Given the description of an element on the screen output the (x, y) to click on. 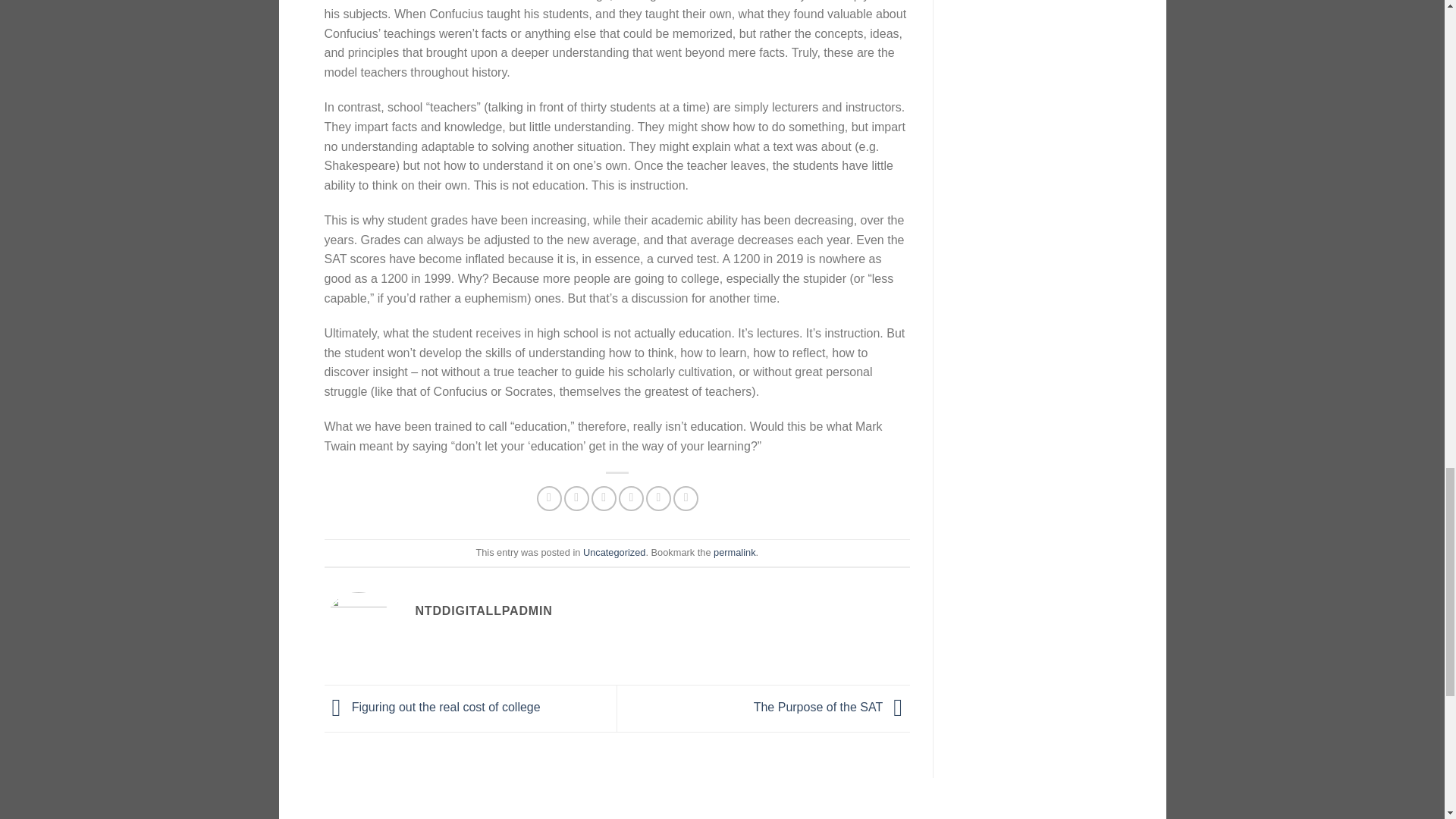
Share on Facebook (549, 498)
Share on Twitter (576, 498)
Share on LinkedIn (685, 498)
Uncategorized (614, 552)
permalink (734, 552)
Pin on Pinterest (630, 498)
Figuring out the real cost of college (432, 707)
Email to a Friend (603, 498)
